Given the description of an element on the screen output the (x, y) to click on. 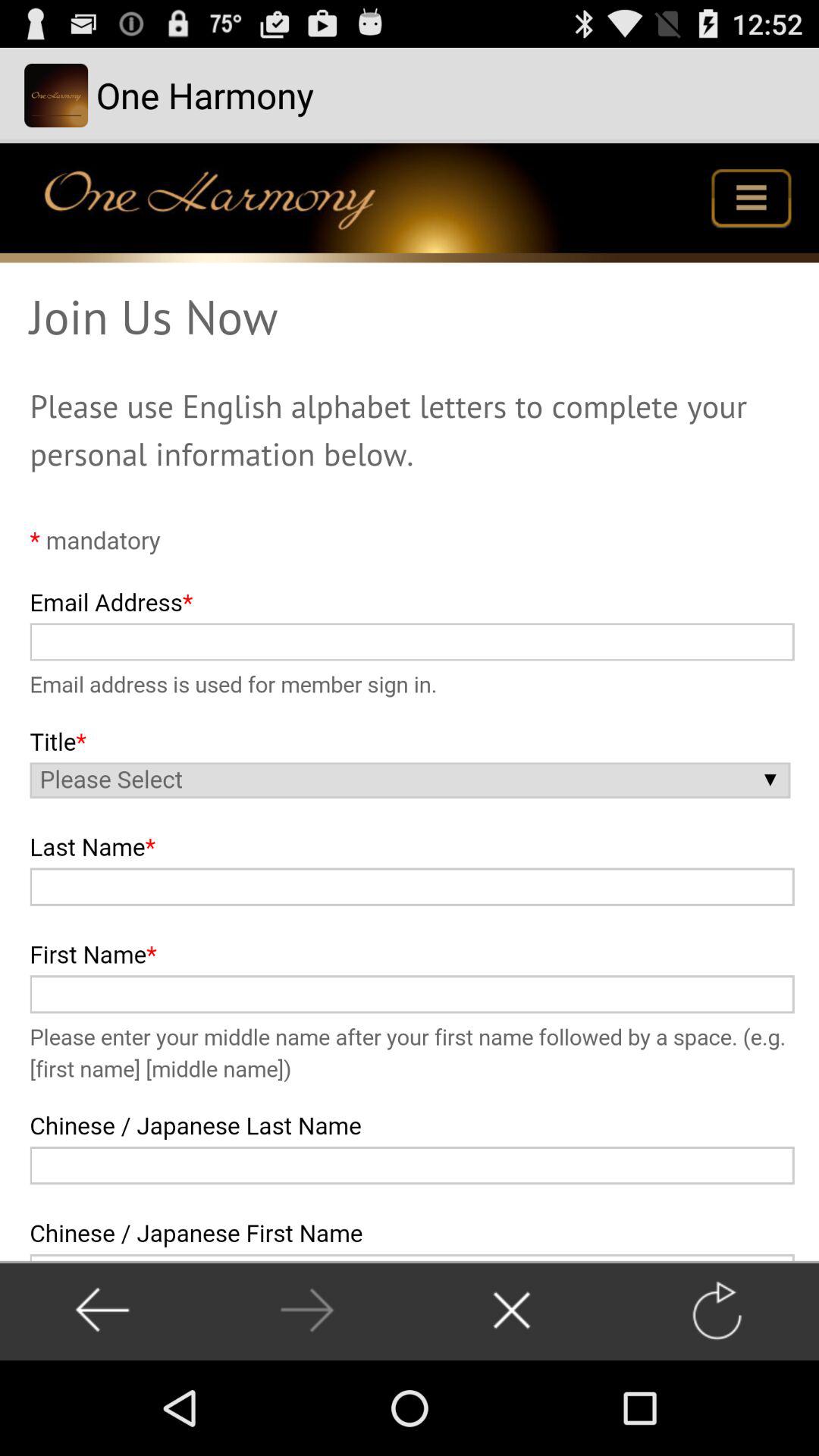
previous (306, 1310)
